Given the description of an element on the screen output the (x, y) to click on. 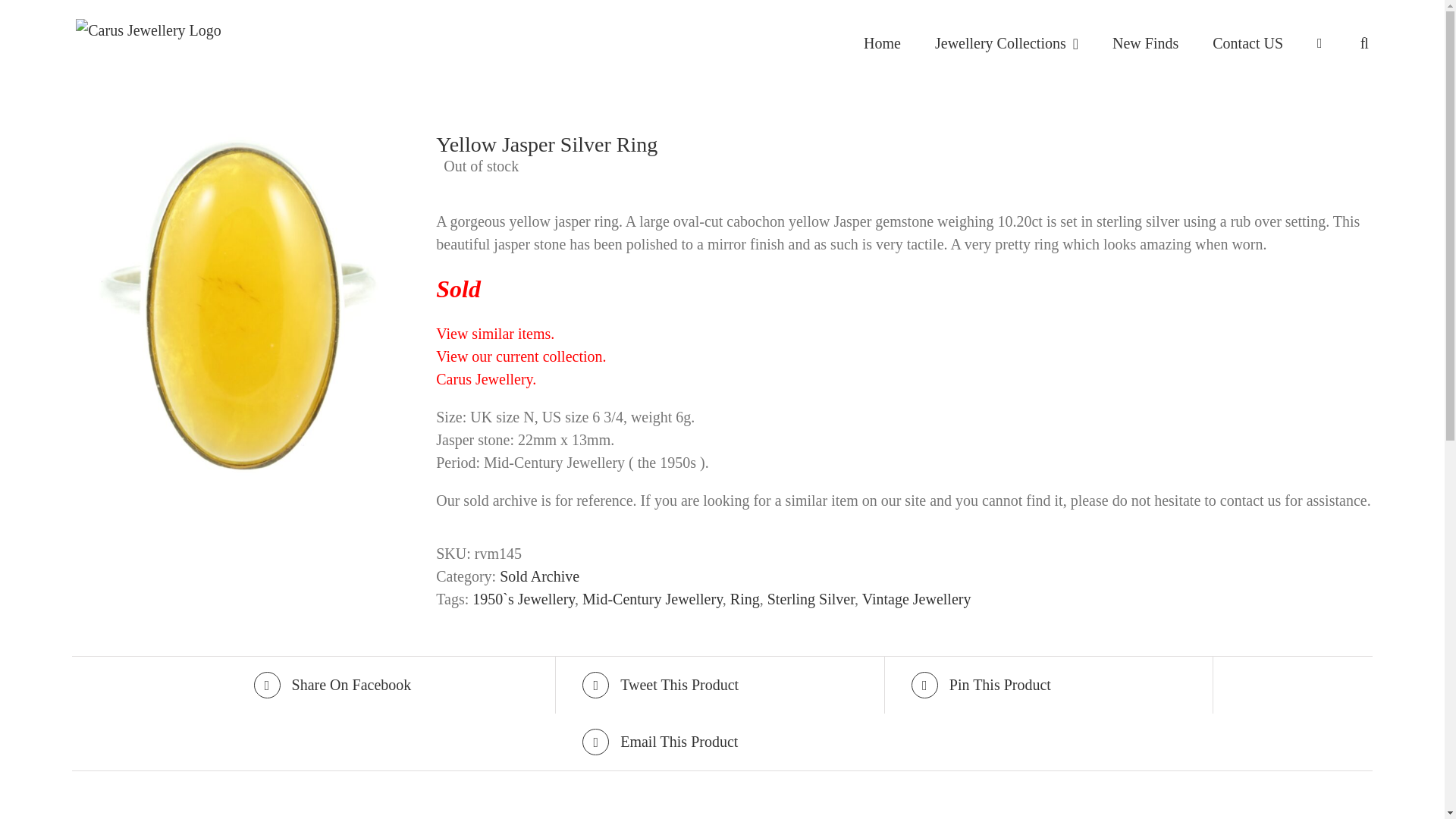
New Finds (1144, 43)
Yellow jasper Silver ring - 563 (242, 304)
Contact US (1247, 43)
Jewellery Collections (1006, 43)
